Given the description of an element on the screen output the (x, y) to click on. 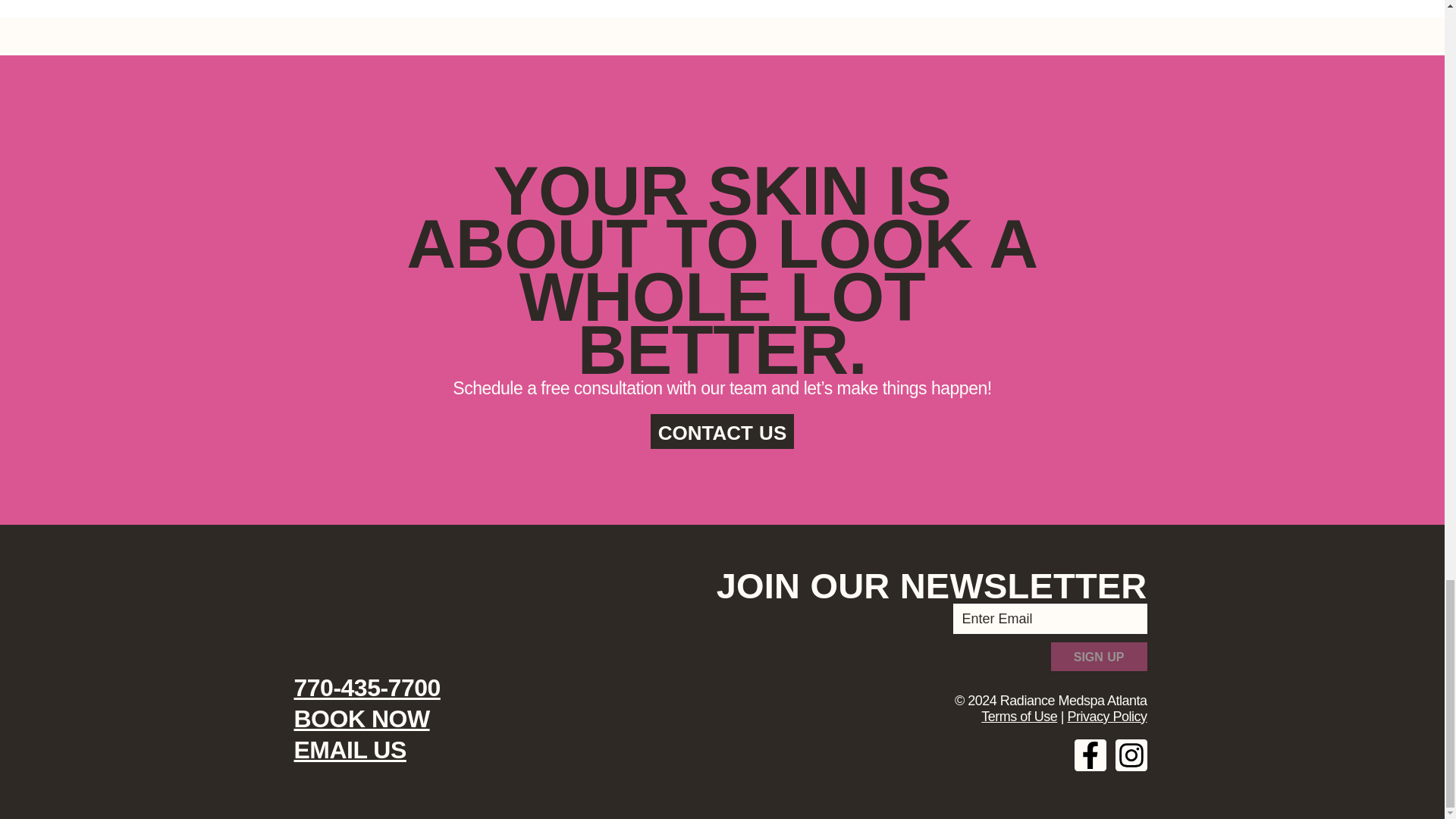
Sign Up (1099, 656)
award-best-2022-bwv2 (447, 609)
coolsculpting-certified-bw (336, 609)
